Given the description of an element on the screen output the (x, y) to click on. 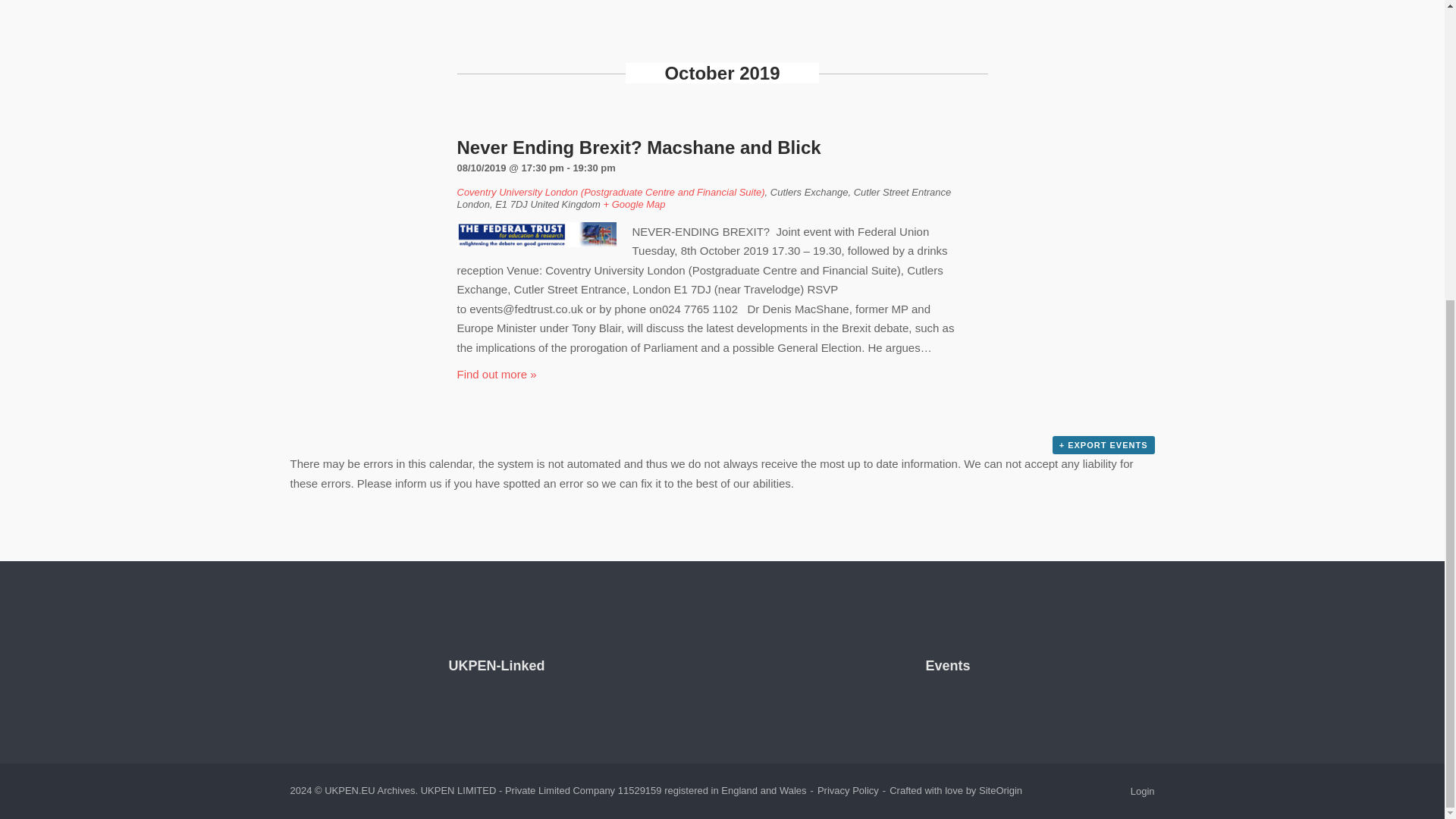
Events (946, 665)
UKPEN-Linked (496, 665)
Click to view a Google Map (634, 204)
Never Ending Brexit? Macshane and Blick (639, 147)
SiteOrigin (1000, 790)
Privacy Policy (847, 790)
Never Ending Brexit? Macshane and Blick (639, 147)
Login (1142, 790)
